Given the description of an element on the screen output the (x, y) to click on. 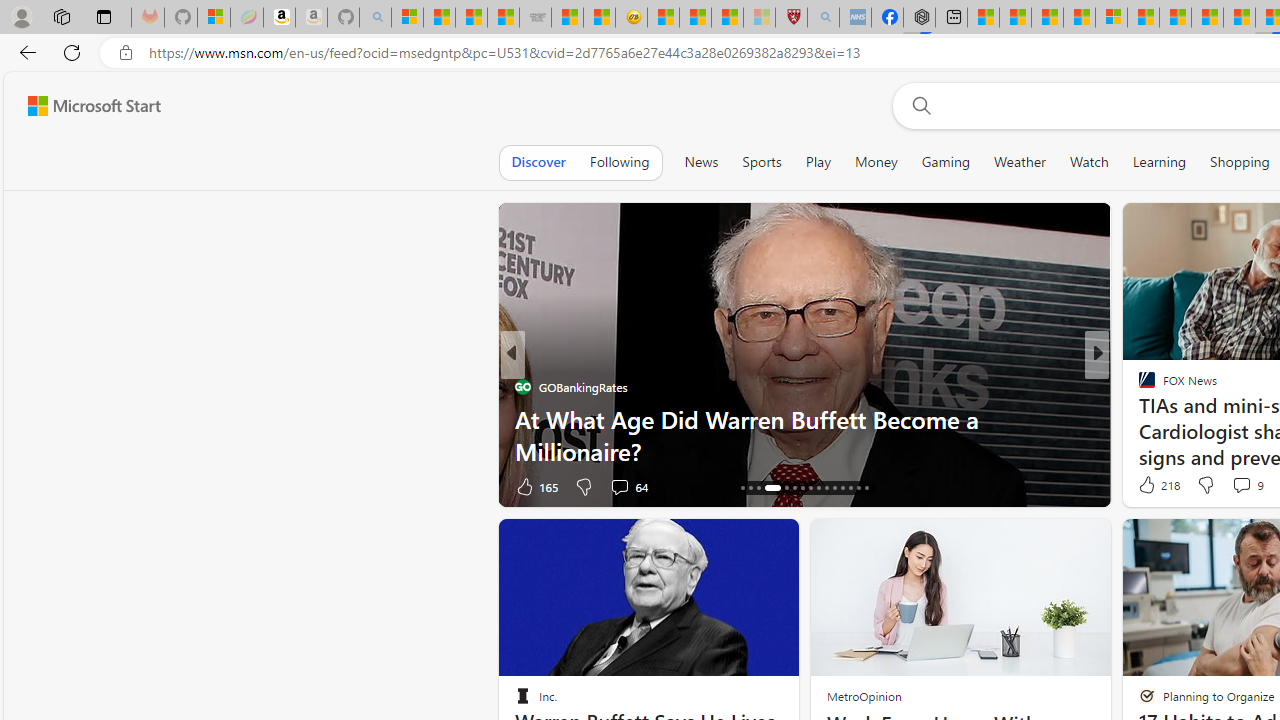
67 Like (1149, 486)
The Mirror US (1138, 386)
AutomationID: tab-23 (810, 487)
218 Like (1157, 484)
View comments 104 Comment (1234, 485)
